Given the description of an element on the screen output the (x, y) to click on. 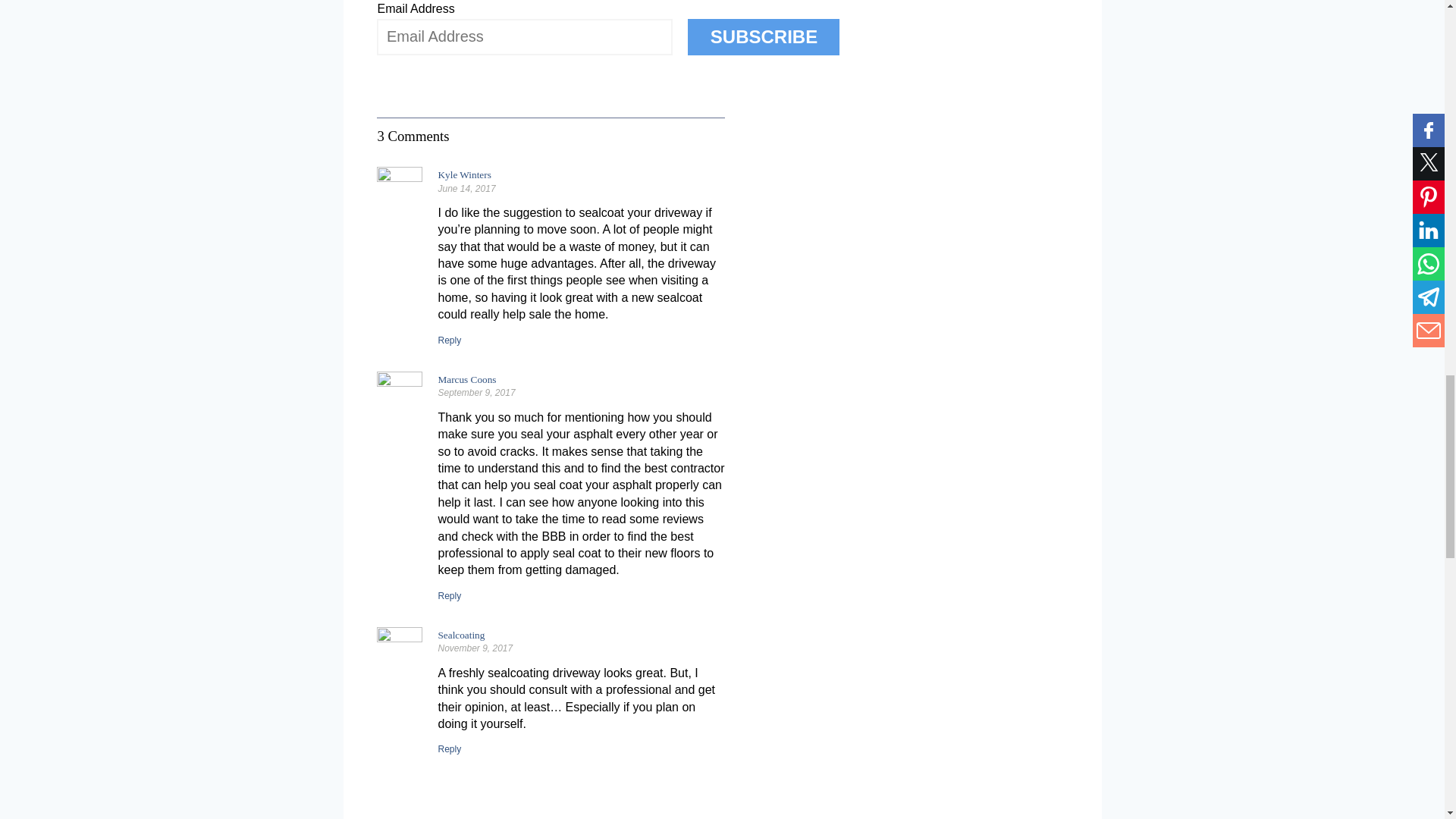
Reply (449, 595)
Reply (449, 748)
SUBSCRIBE (763, 36)
Reply (449, 339)
Kyle Winters (464, 174)
Marcus Coons (467, 378)
Sealcoating (461, 634)
